Given the description of an element on the screen output the (x, y) to click on. 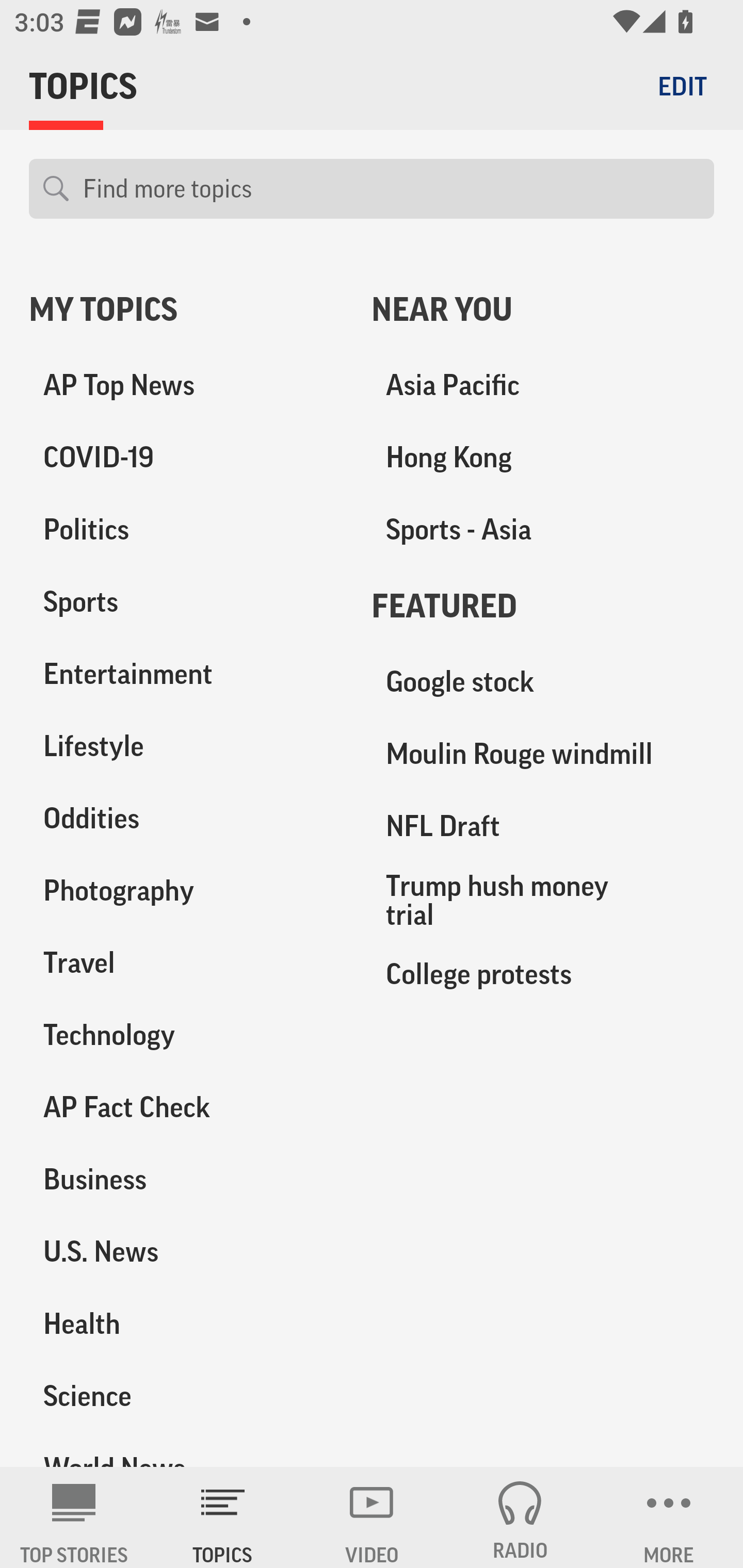
EDIT (682, 86)
Find more topics (391, 188)
AP Top News (185, 385)
Asia Pacific (542, 385)
COVID-19 (185, 457)
Hong Kong (542, 457)
Politics (185, 529)
Sports - Asia (542, 529)
Sports (185, 602)
Entertainment (185, 674)
Google stock (542, 682)
Lifestyle (185, 746)
Moulin Rouge windmill (542, 754)
Oddities (185, 818)
NFL Draft (542, 826)
Photography (185, 890)
Trump hush money trial (542, 899)
Travel (185, 962)
College protests (542, 973)
Technology (185, 1034)
AP Fact Check (185, 1106)
Business (185, 1179)
U.S. News (185, 1251)
Health (185, 1323)
Science (185, 1395)
AP News TOP STORIES (74, 1517)
TOPICS (222, 1517)
VIDEO (371, 1517)
RADIO (519, 1517)
MORE (668, 1517)
